Given the description of an element on the screen output the (x, y) to click on. 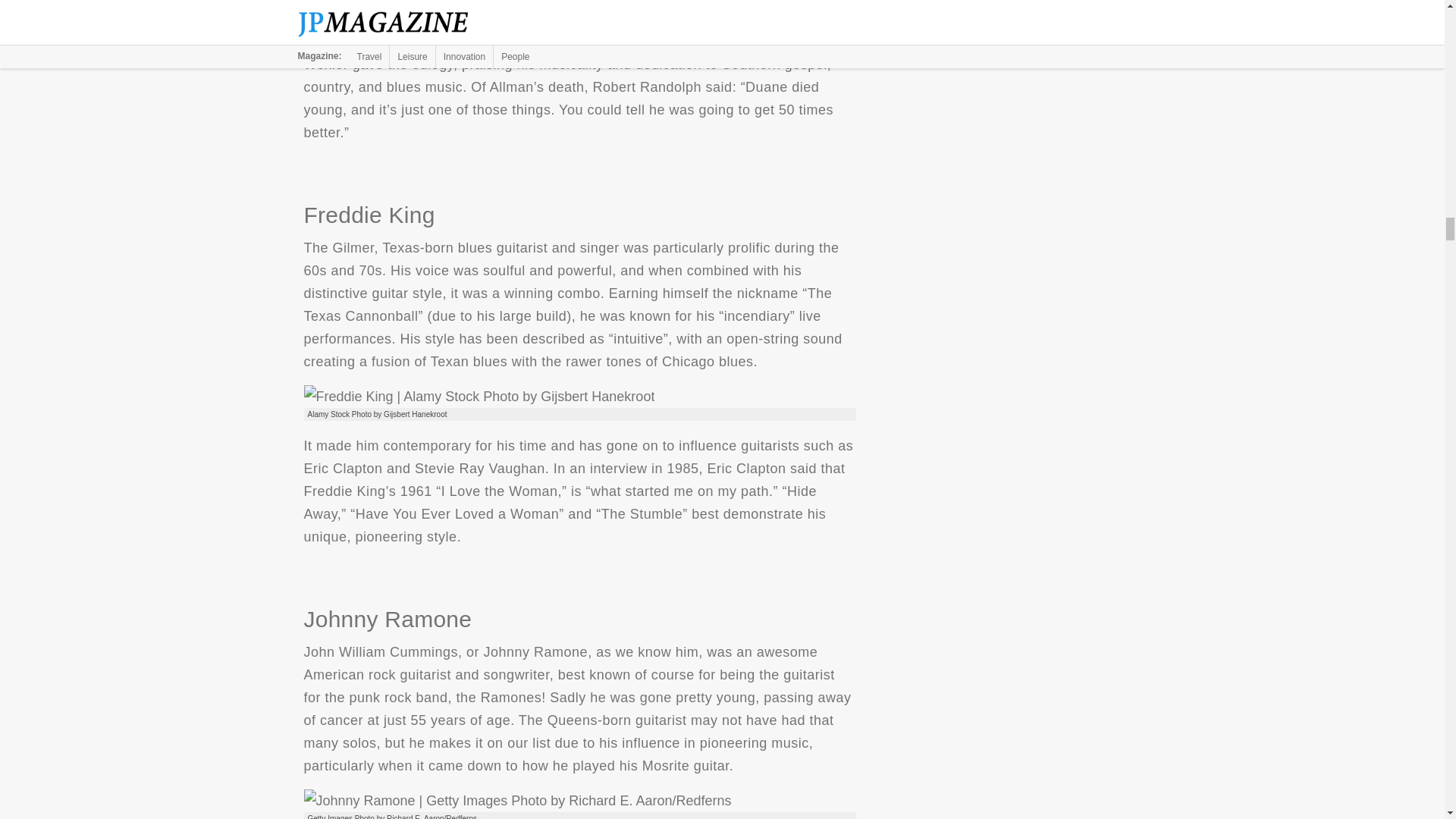
Freddie King (477, 395)
Johnny Ramone (516, 800)
